Given the description of an element on the screen output the (x, y) to click on. 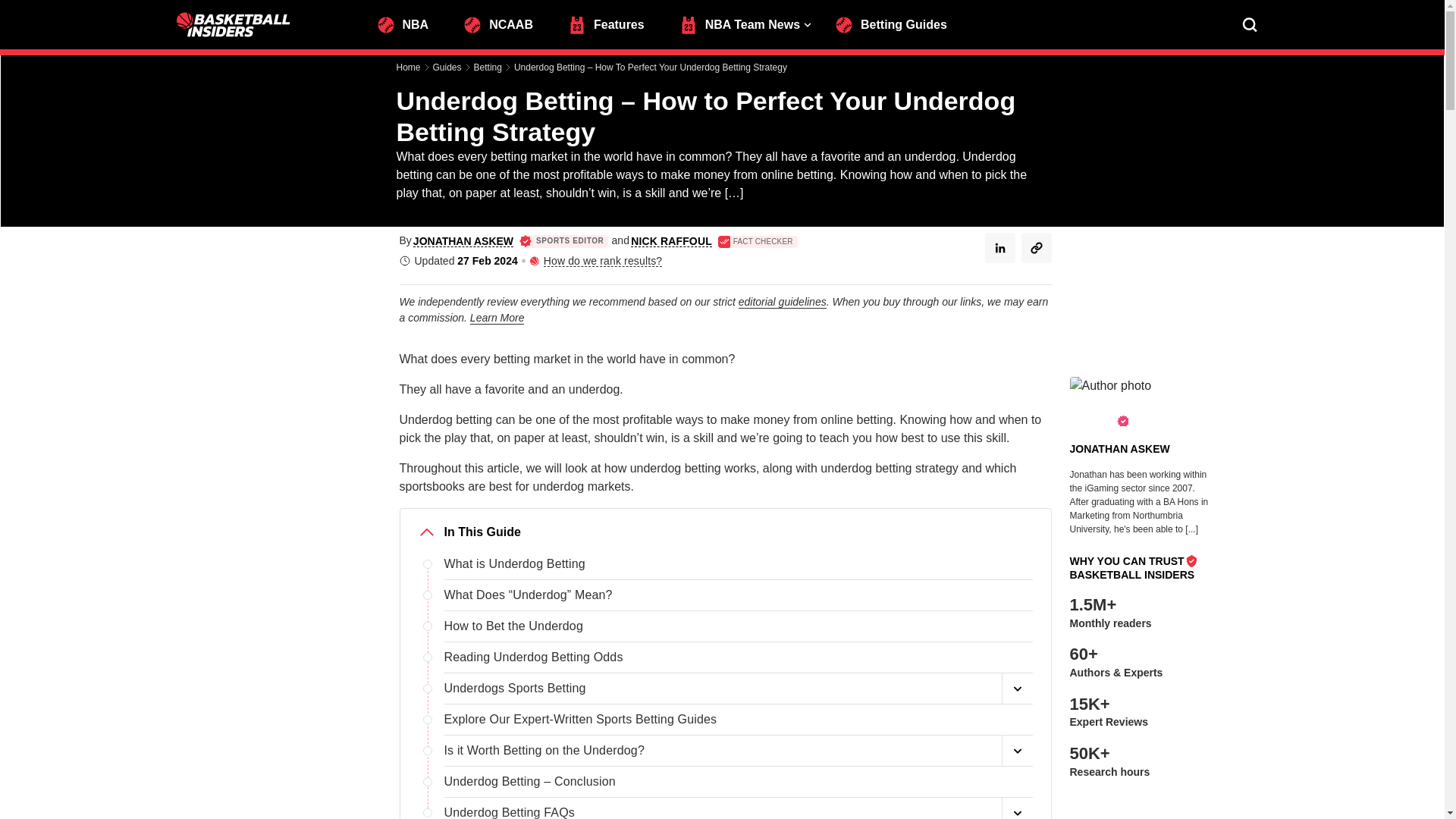
NBA Team News (746, 22)
NCAAB (504, 22)
NBA (408, 22)
Features (612, 22)
